Given the description of an element on the screen output the (x, y) to click on. 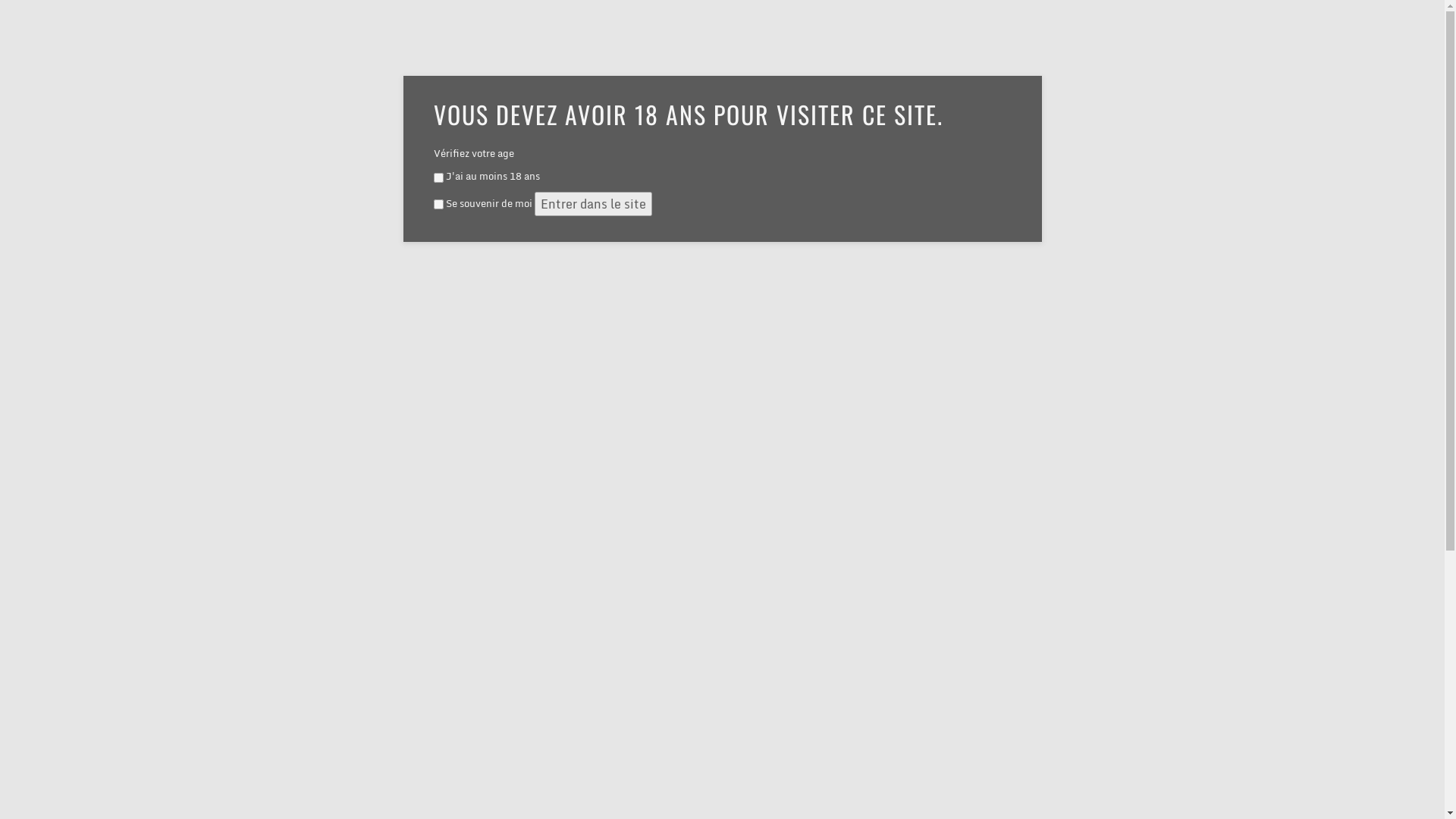
ACCUEIL Element type: text (624, 60)
LA BOUTIQUE Element type: text (930, 60)
LA BRASSERIE Element type: text (843, 60)
LES LIQUEURS Element type: text (758, 60)
Entrer dans le site Element type: text (592, 203)
ACCUEIL Element type: text (327, 184)
AJOUTER AU PANIER Element type: text (573, 635)
MAILINGLIST Element type: text (1080, 60)
AJOUTER AU PANIER Element type: text (994, 635)
AJOUTER AU PANIER Element type: text (363, 648)
AJOUTER AU PANIER Element type: text (784, 635)
